Given the description of an element on the screen output the (x, y) to click on. 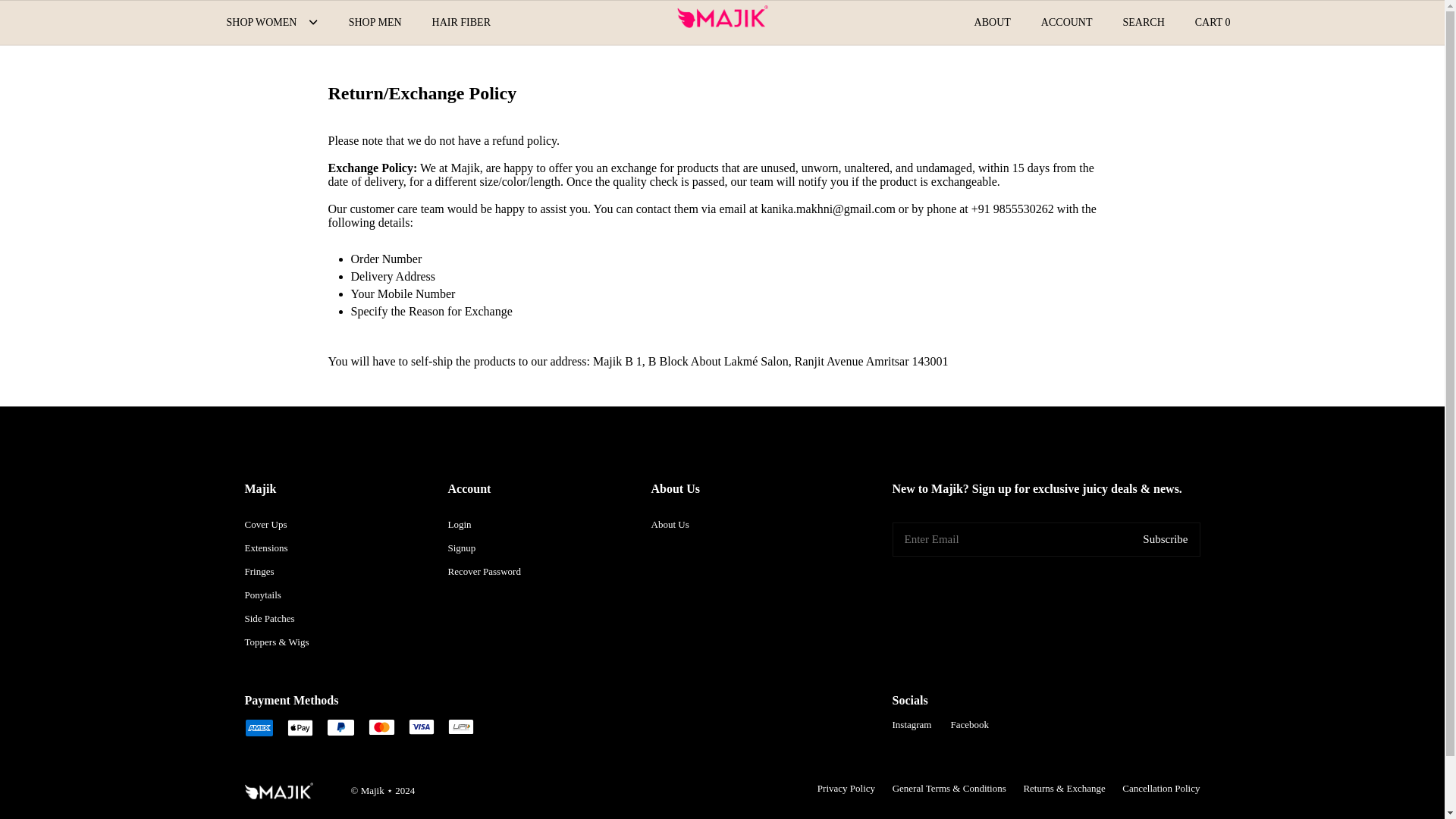
SHOP WOMEN (261, 21)
